Given the description of an element on the screen output the (x, y) to click on. 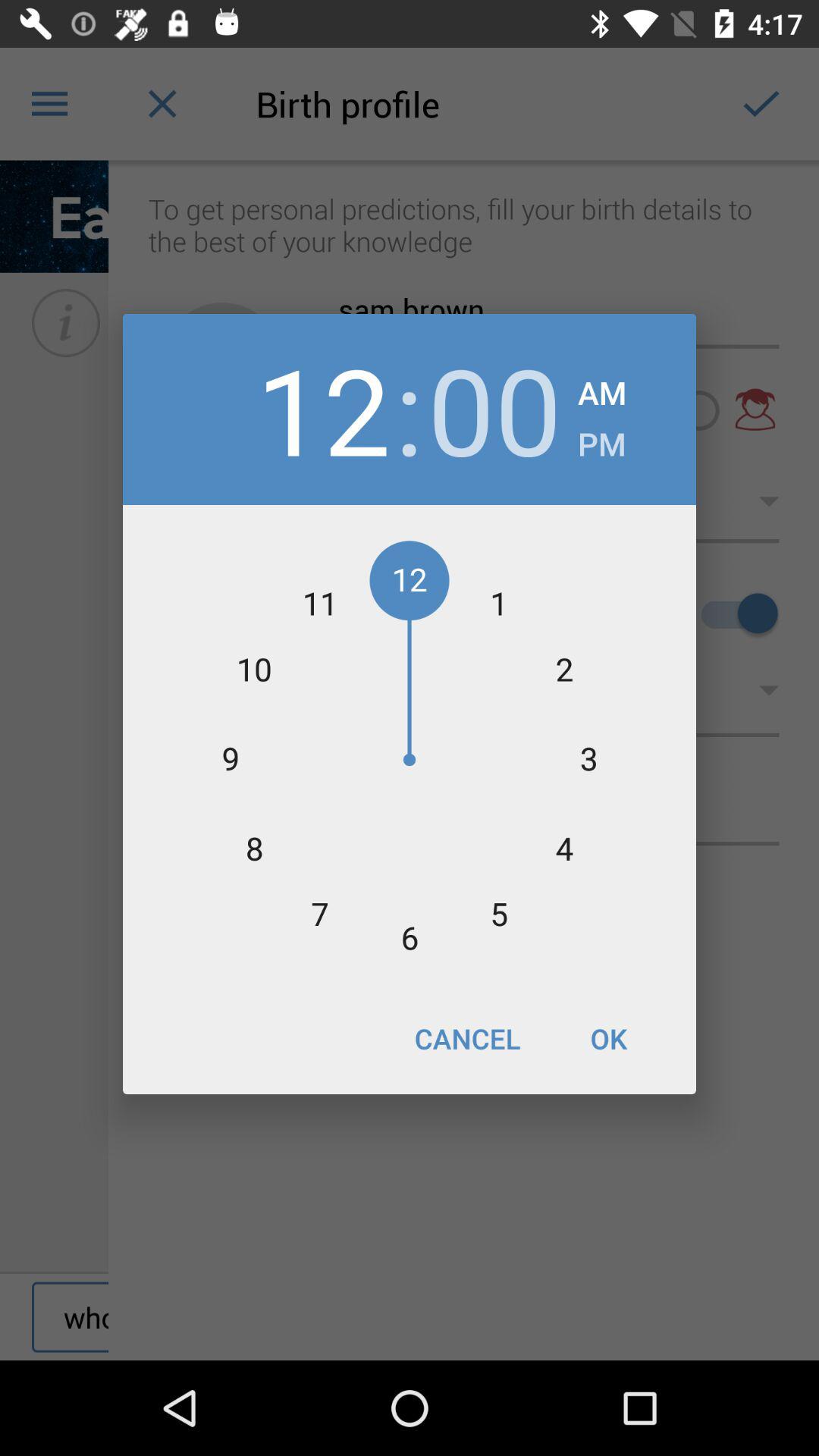
choose pm (601, 439)
